Given the description of an element on the screen output the (x, y) to click on. 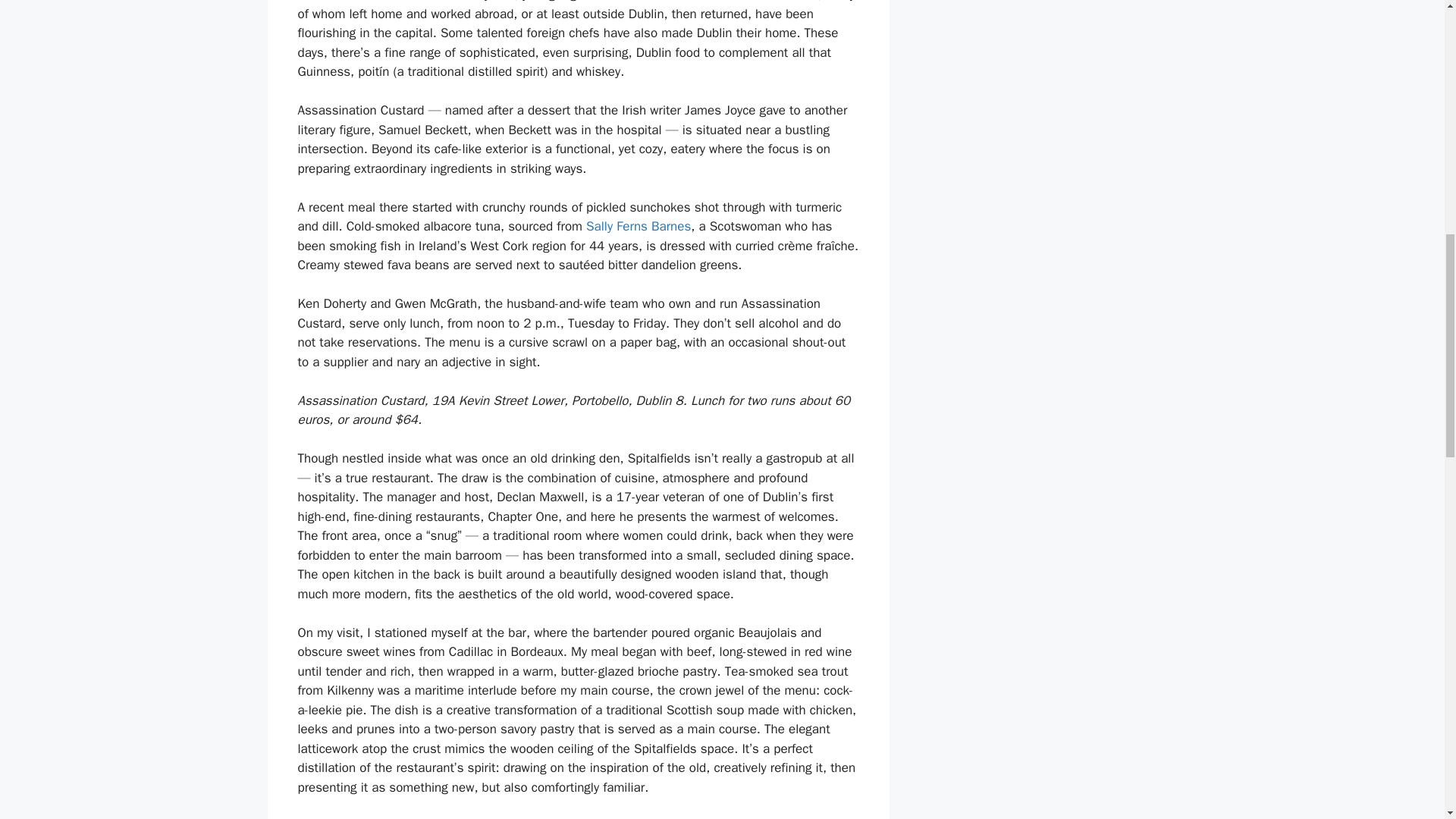
Patrick Guilbaud (342, 1)
Sally Ferns Barnes (638, 226)
